Given the description of an element on the screen output the (x, y) to click on. 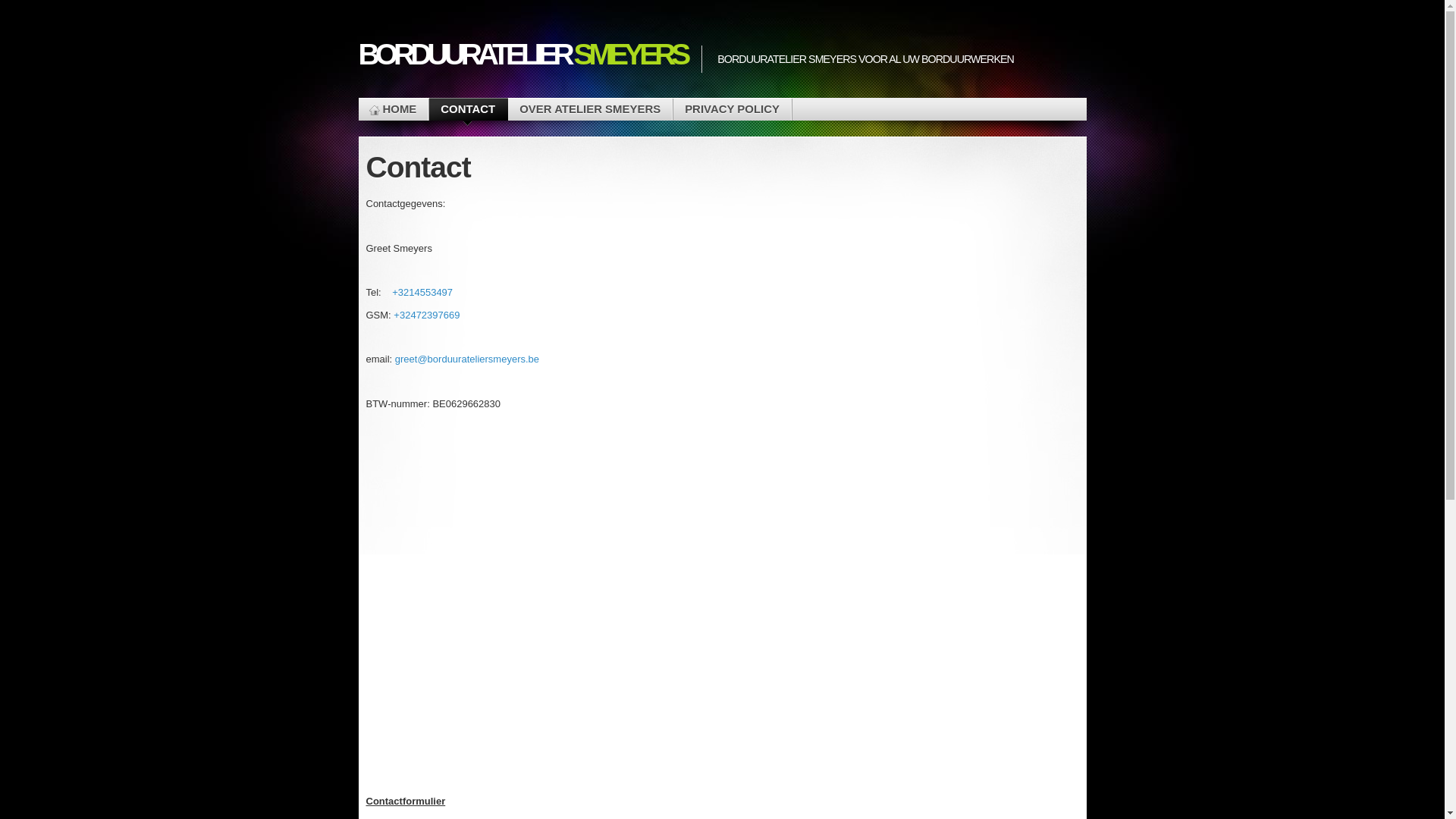
OVER ATELIER SMEYERS Element type: text (589, 109)
PRIVACY POLICY Element type: text (731, 109)
BORDUURATELIER SMEYERS Element type: text (521, 54)
greet@borduurateliersmeyers.be Element type: text (467, 358)
HOME Element type: text (392, 109)
CONTACT Element type: text (467, 109)
+3214553497 Element type: text (422, 292)
+32472397669 Element type: text (426, 314)
